Given the description of an element on the screen output the (x, y) to click on. 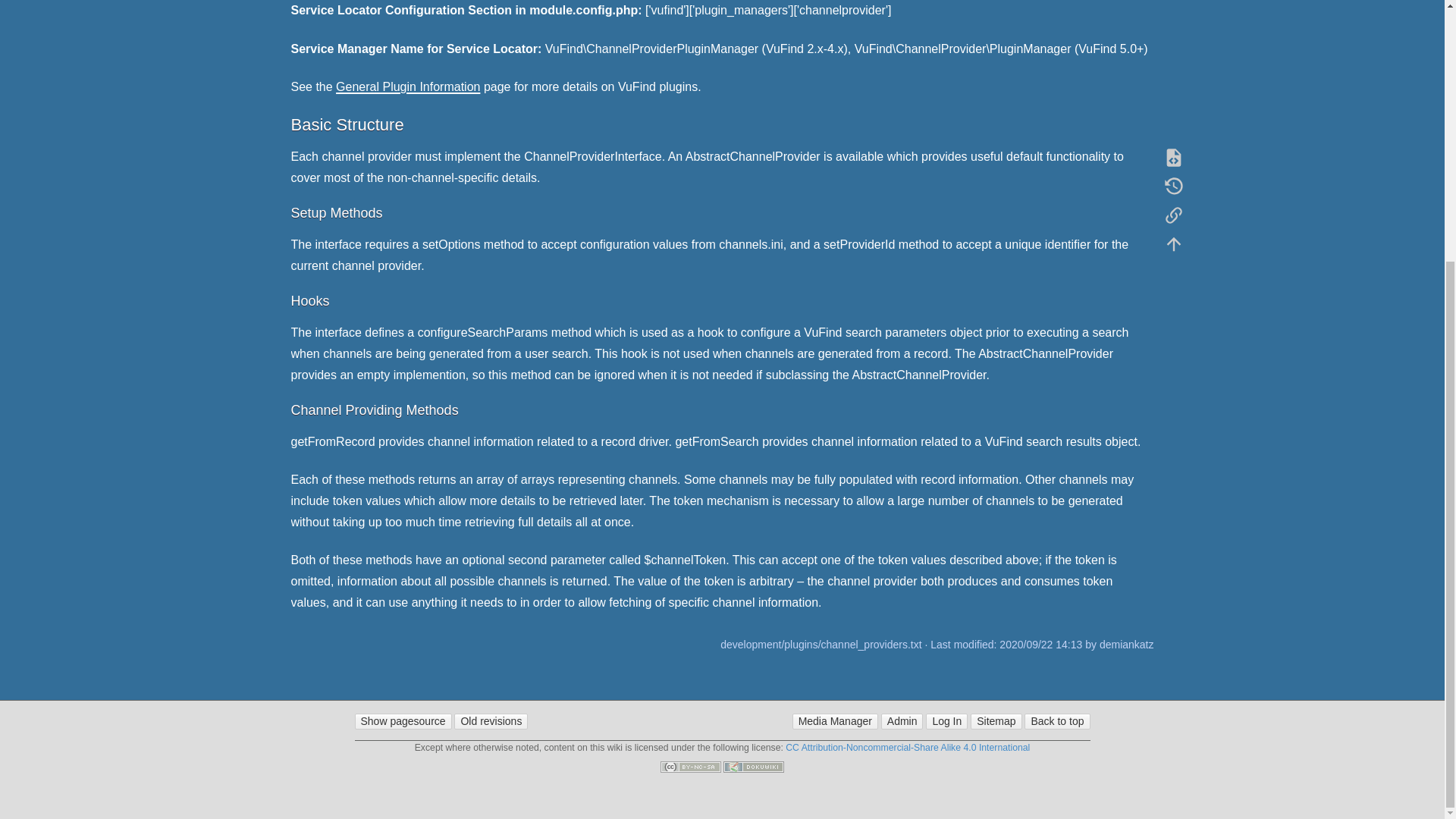
Show pagesource (403, 721)
General Plugin Information (408, 86)
Admin (901, 721)
Media Manager (834, 721)
Old revisions (490, 721)
